Given the description of an element on the screen output the (x, y) to click on. 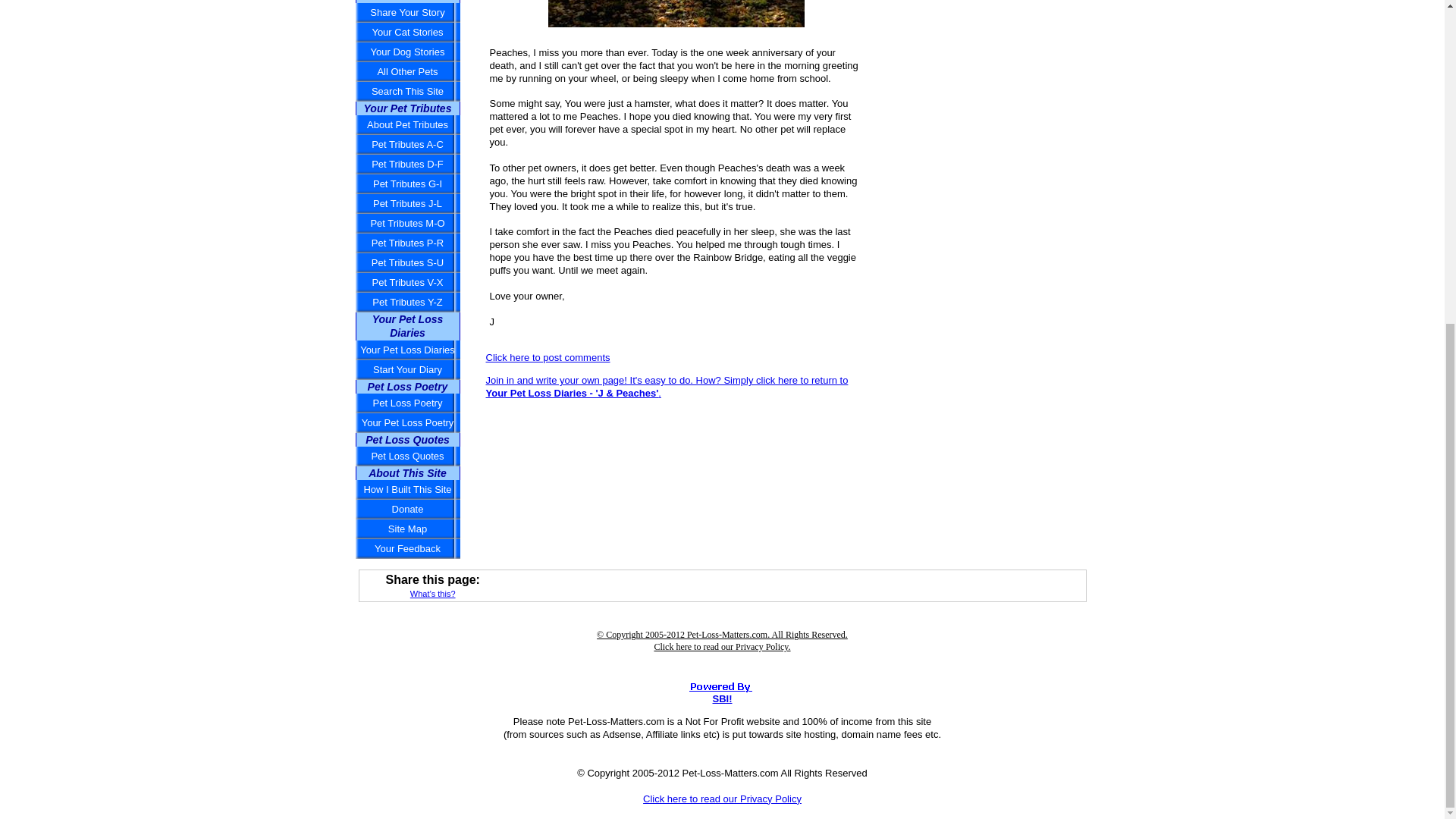
Your Cat Stories (407, 32)
Pet Tributes P-R (407, 243)
All Other Pets (407, 71)
Pet Tributes J-L (407, 203)
Pet Loss Poetry (407, 403)
Pet Tributes G-I (407, 184)
Your Pet Loss Poetry (407, 423)
Pet Tributes V-X (407, 282)
Click here to post comments (547, 357)
Pet Tributes Y-Z (407, 302)
